Given the description of an element on the screen output the (x, y) to click on. 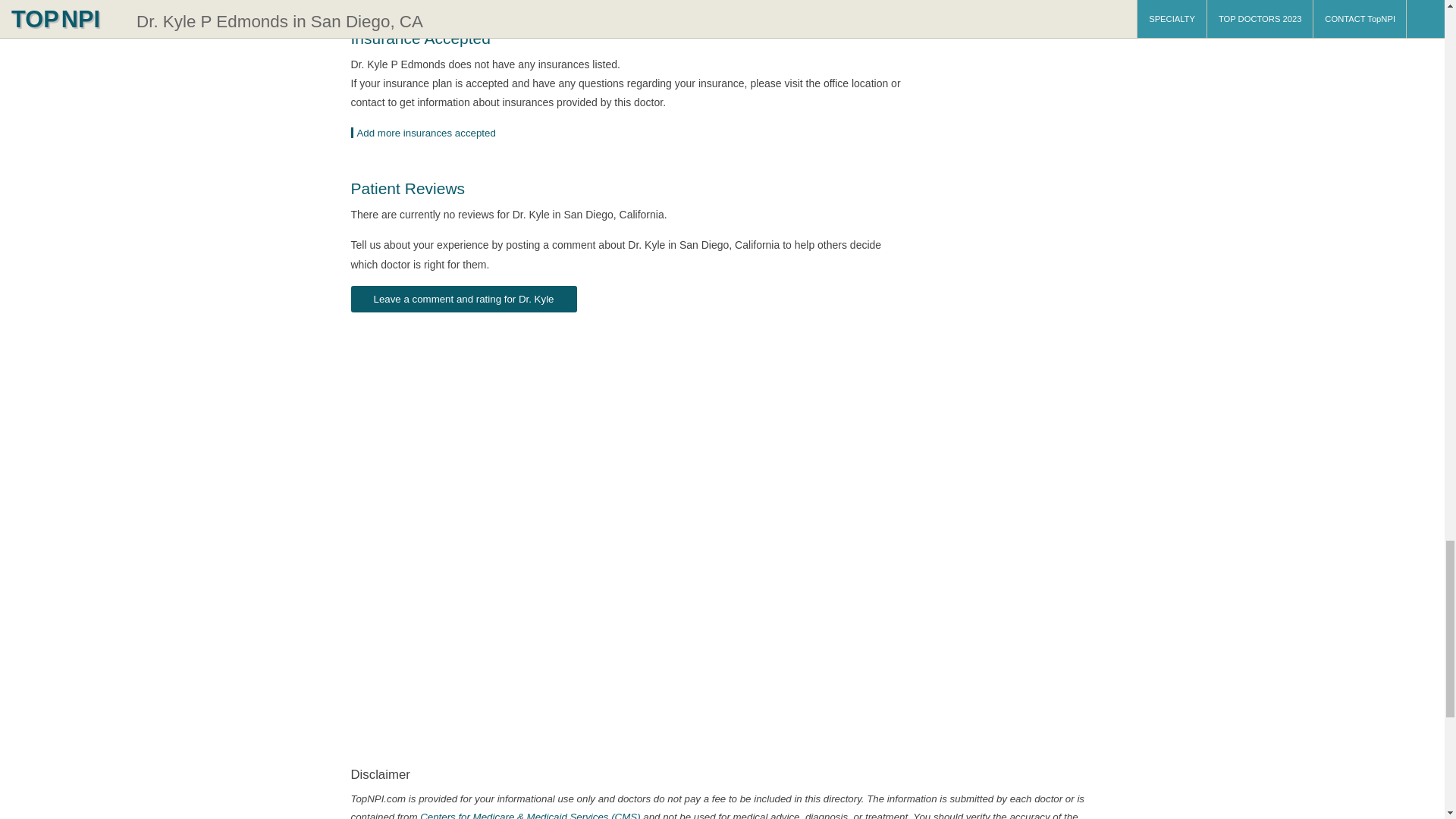
Leave a comment and rating for Dr. Kyle (463, 298)
Update location (428, 132)
Add more insurances accepted (428, 132)
